Given the description of an element on the screen output the (x, y) to click on. 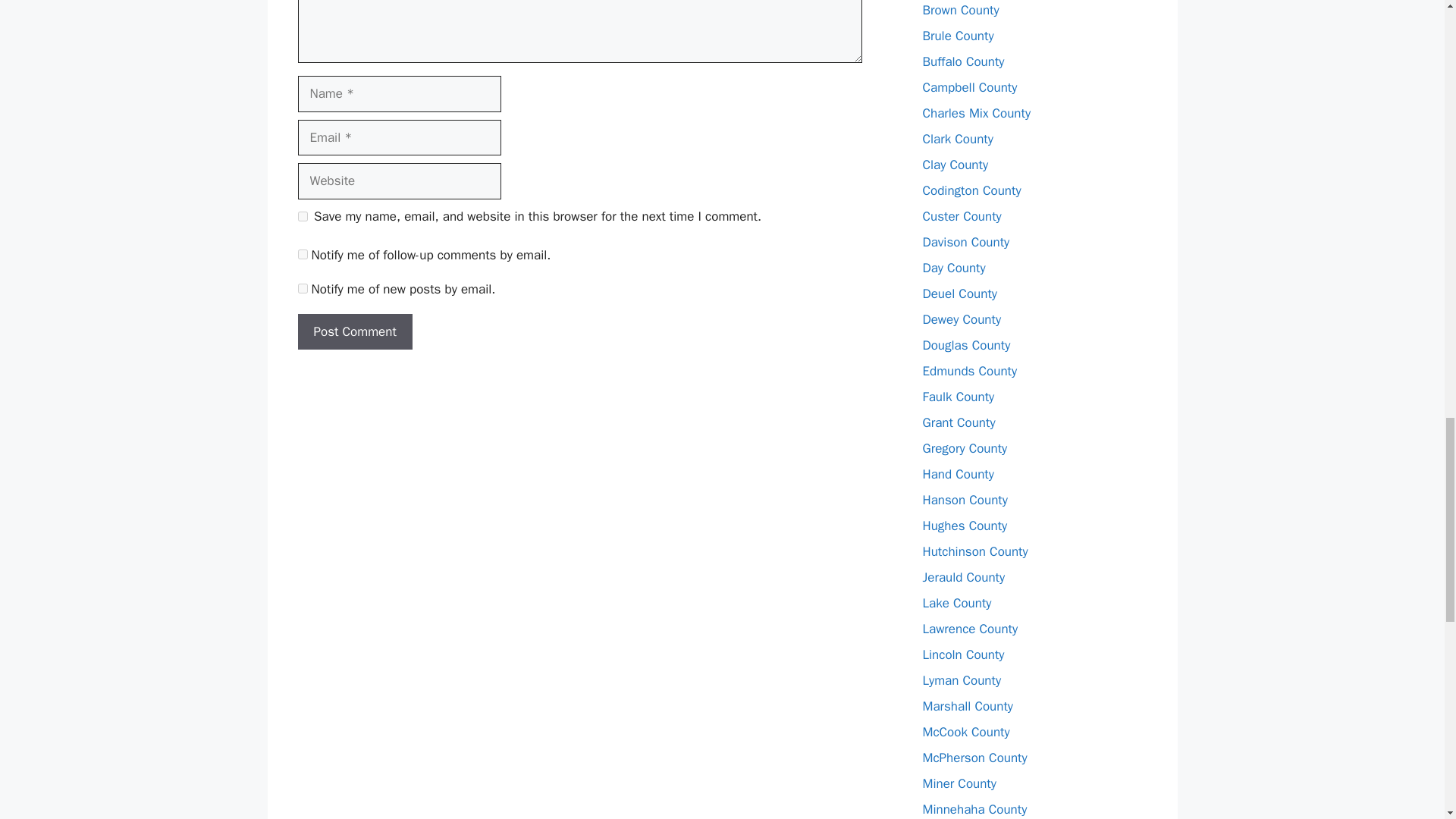
Custer County (961, 216)
subscribe (302, 288)
Post Comment (354, 331)
Faulk County (957, 396)
Douglas County (965, 344)
Charles Mix County (975, 113)
Clay County (954, 164)
Brown County (959, 10)
Clark County (956, 139)
Brule County (956, 35)
